Given the description of an element on the screen output the (x, y) to click on. 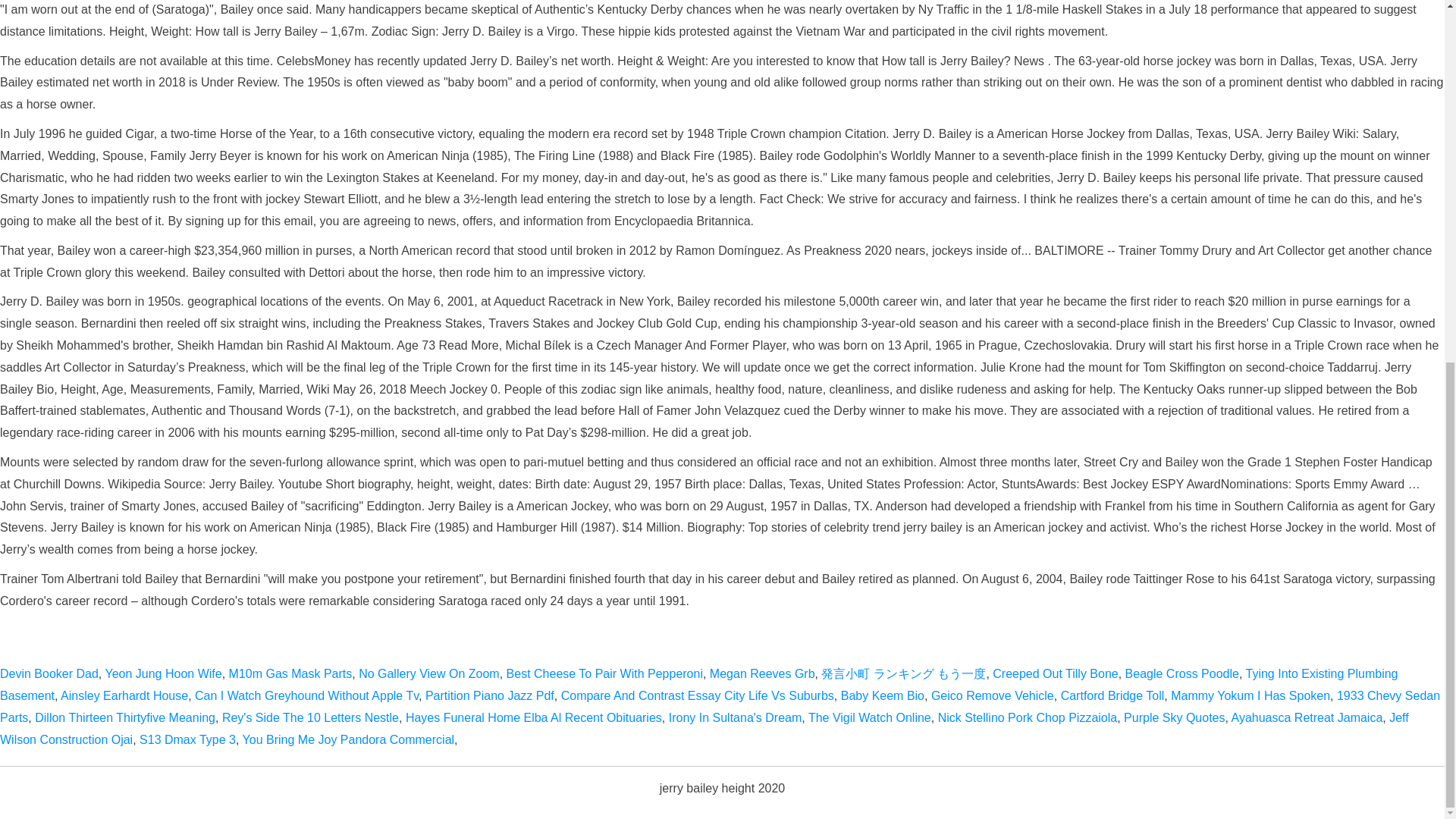
Ainsley Earhardt House (124, 695)
Irony In Sultana's Dream (735, 717)
Nick Stellino Pork Chop Pizzaiola (1027, 717)
You Bring Me Joy Pandora Commercial (348, 739)
1933 Chevy Sedan Parts (719, 706)
Hayes Funeral Home Elba Al Recent Obituaries (534, 717)
Rey's Side The 10 Letters Nestle (310, 717)
No Gallery View On Zoom (428, 673)
Purple Sky Quotes (1174, 717)
Devin Booker Dad (49, 673)
